Given the description of an element on the screen output the (x, y) to click on. 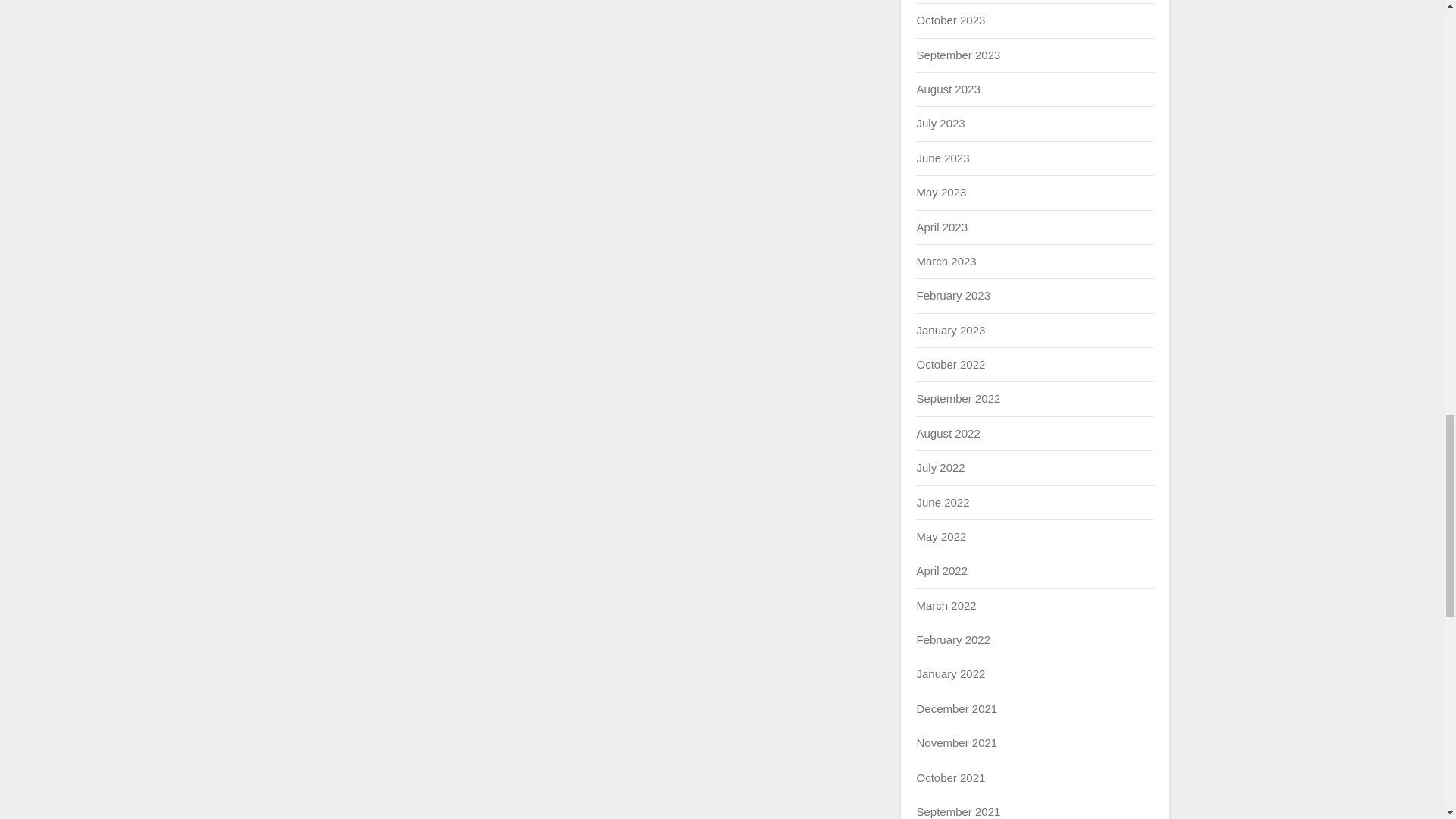
July 2023 (939, 123)
February 2023 (952, 295)
January 2023 (950, 329)
June 2023 (942, 157)
October 2023 (950, 19)
April 2023 (941, 226)
September 2023 (957, 54)
October 2022 (950, 364)
August 2023 (947, 88)
May 2023 (940, 192)
